Given the description of an element on the screen output the (x, y) to click on. 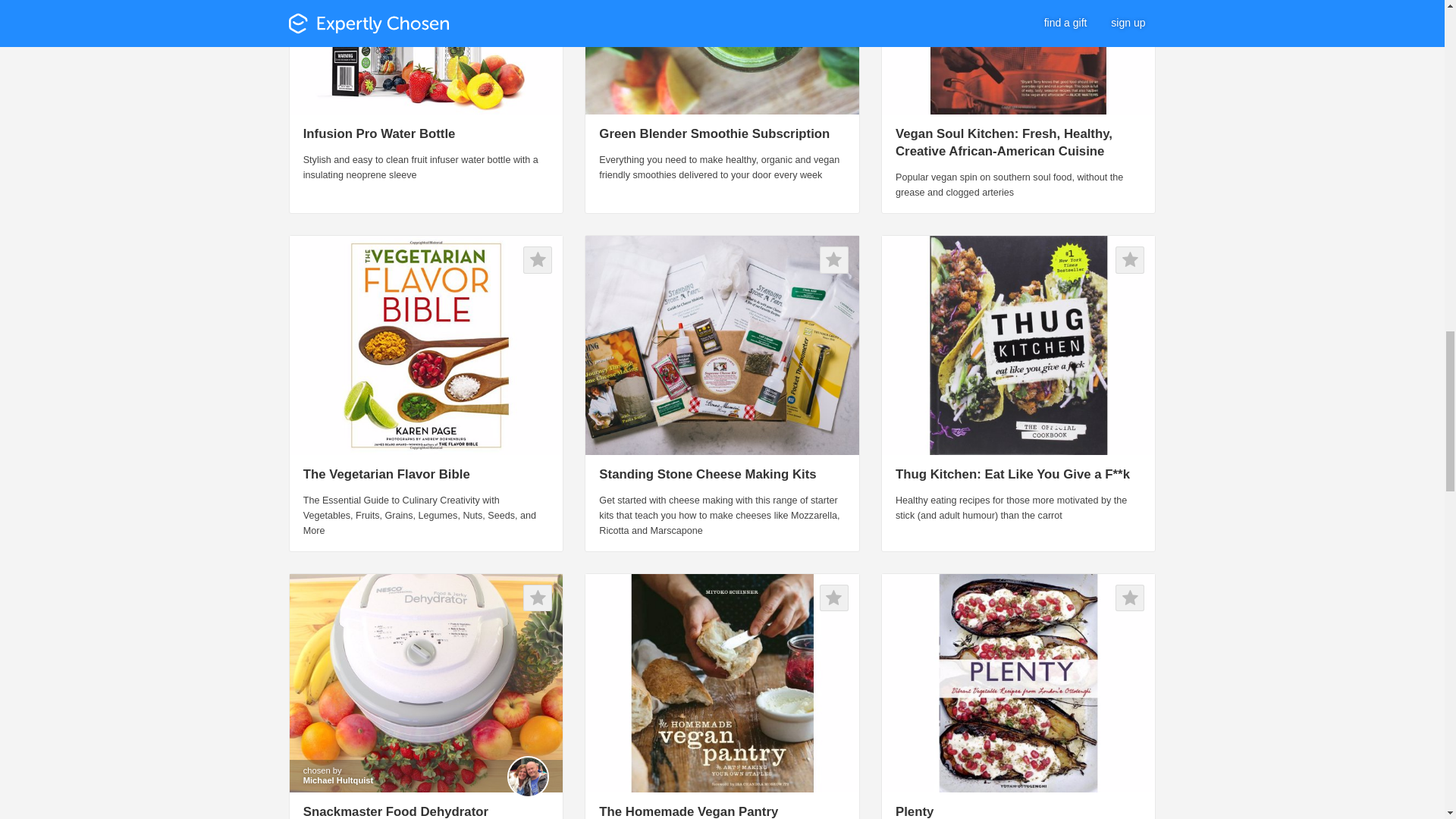
Green Blender Smoothie Subscription (713, 133)
Add to my favorites (1129, 597)
Infusion Pro Water Bottle (378, 133)
Add to my favorites (1129, 259)
Add to my favorites (833, 259)
The Vegetarian Flavor Bible (386, 473)
Plenty (914, 811)
Michael Hultquist (338, 780)
Snackmaster Food Dehydrator (394, 811)
The Homemade Vegan Pantry (687, 811)
Standing Stone Cheese Making Kits (706, 473)
Add to my favorites (536, 259)
Add to my favorites (536, 597)
Add to my favorites (833, 597)
